Given the description of an element on the screen output the (x, y) to click on. 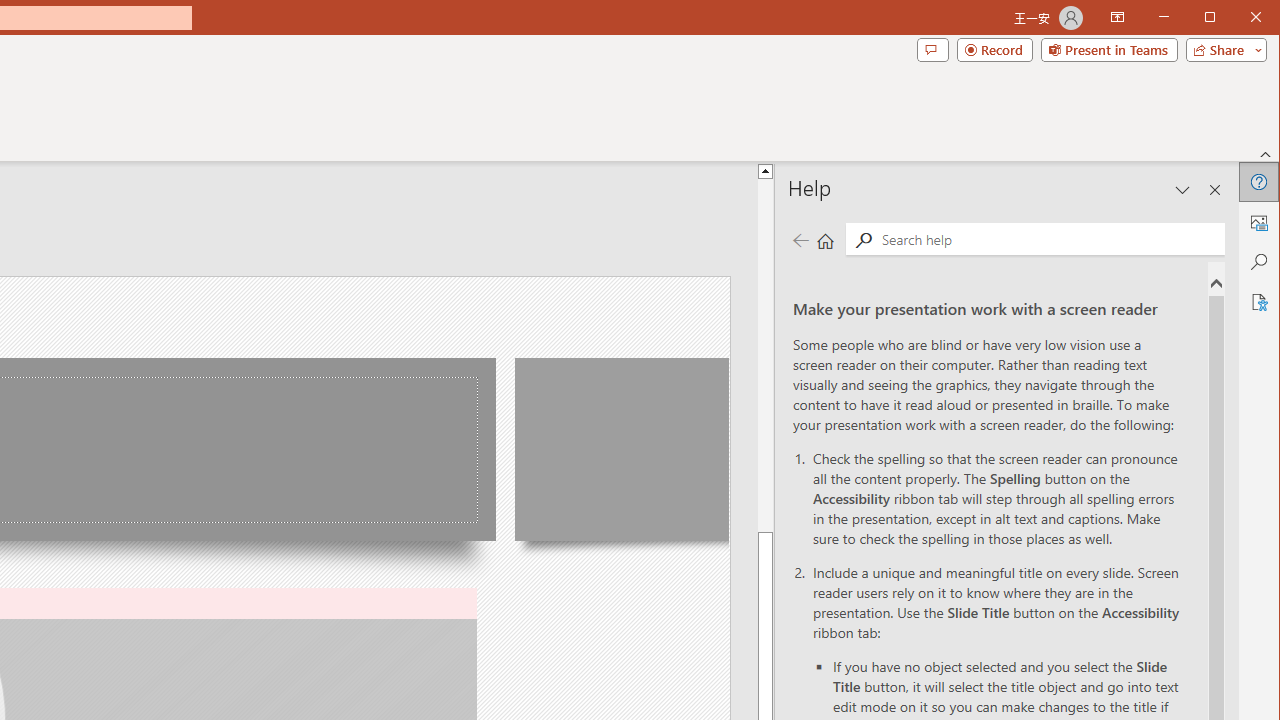
Close pane (1215, 189)
Search (1258, 261)
Alt Text (1258, 221)
Share (1222, 49)
Ribbon Display Options (1117, 17)
Search (863, 240)
Minimize (1216, 18)
Maximize (1238, 18)
